Given the description of an element on the screen output the (x, y) to click on. 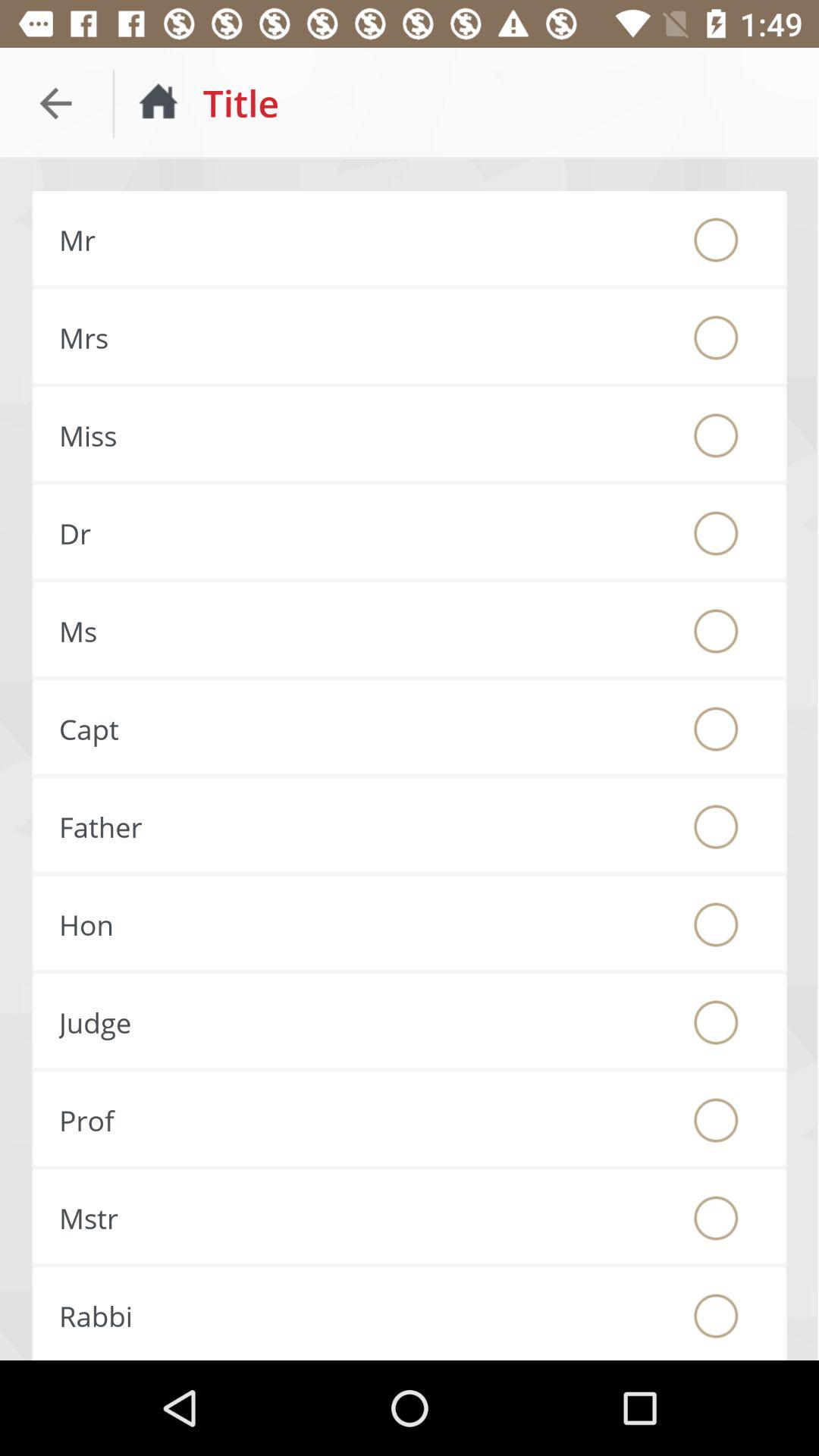
choice tick (715, 728)
